Given the description of an element on the screen output the (x, y) to click on. 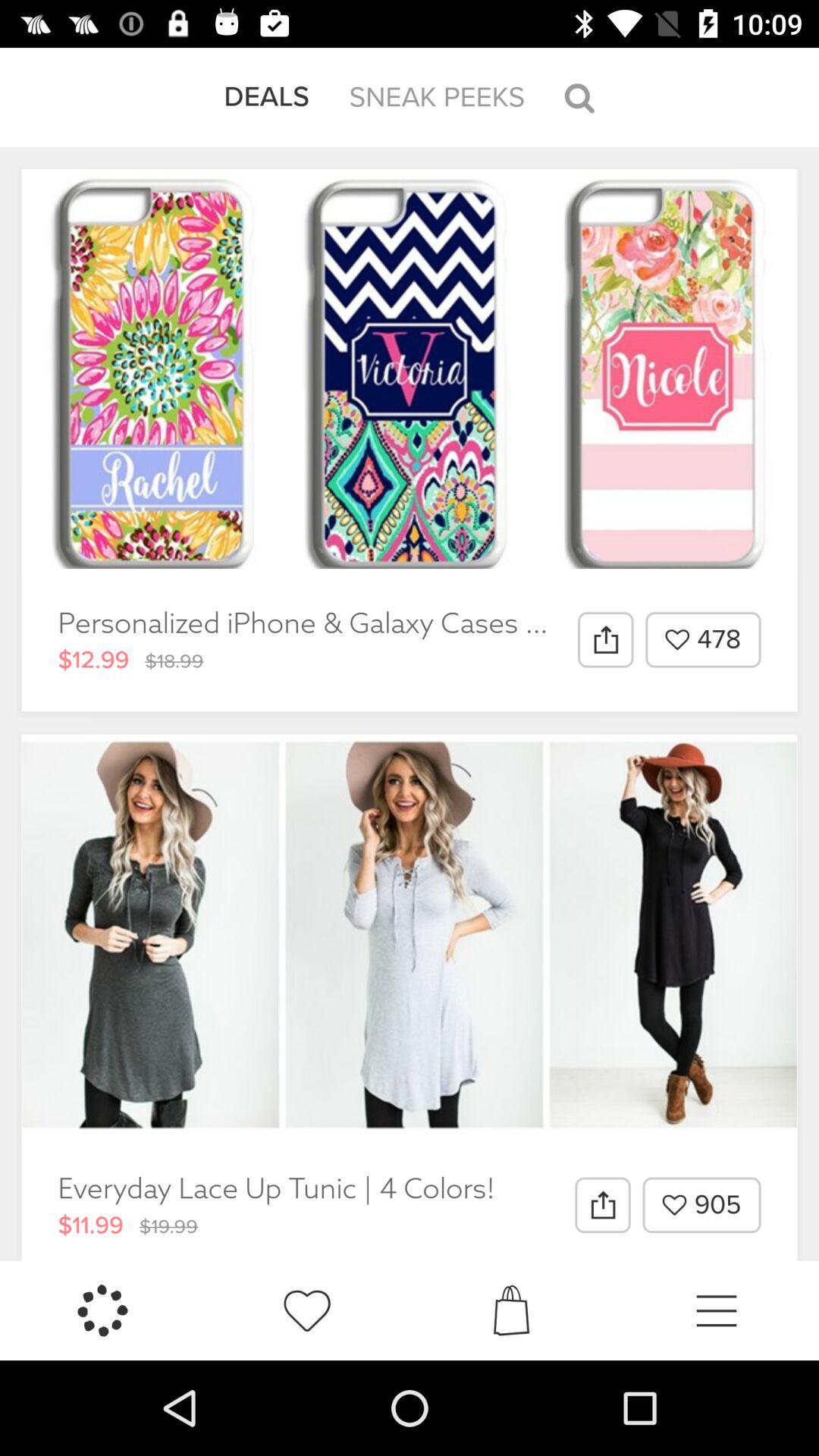
tap item to the left of 478 item (605, 639)
